Given the description of an element on the screen output the (x, y) to click on. 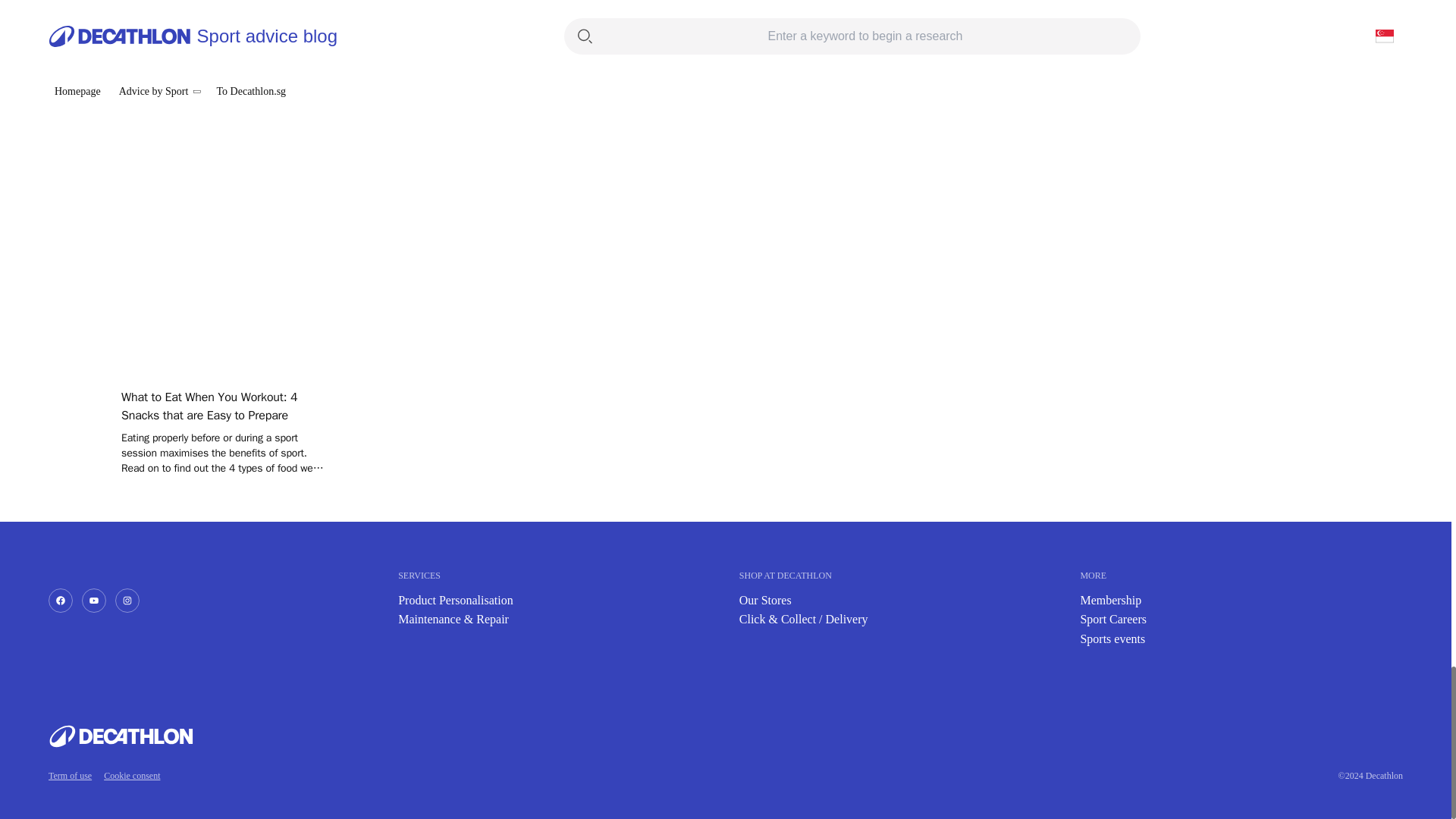
Sport Careers (1113, 618)
Sports events (1112, 638)
Term of use (69, 775)
Our Stores (765, 599)
Cookie consent (131, 775)
Membership (1110, 599)
Product Personalisation (455, 599)
